Given the description of an element on the screen output the (x, y) to click on. 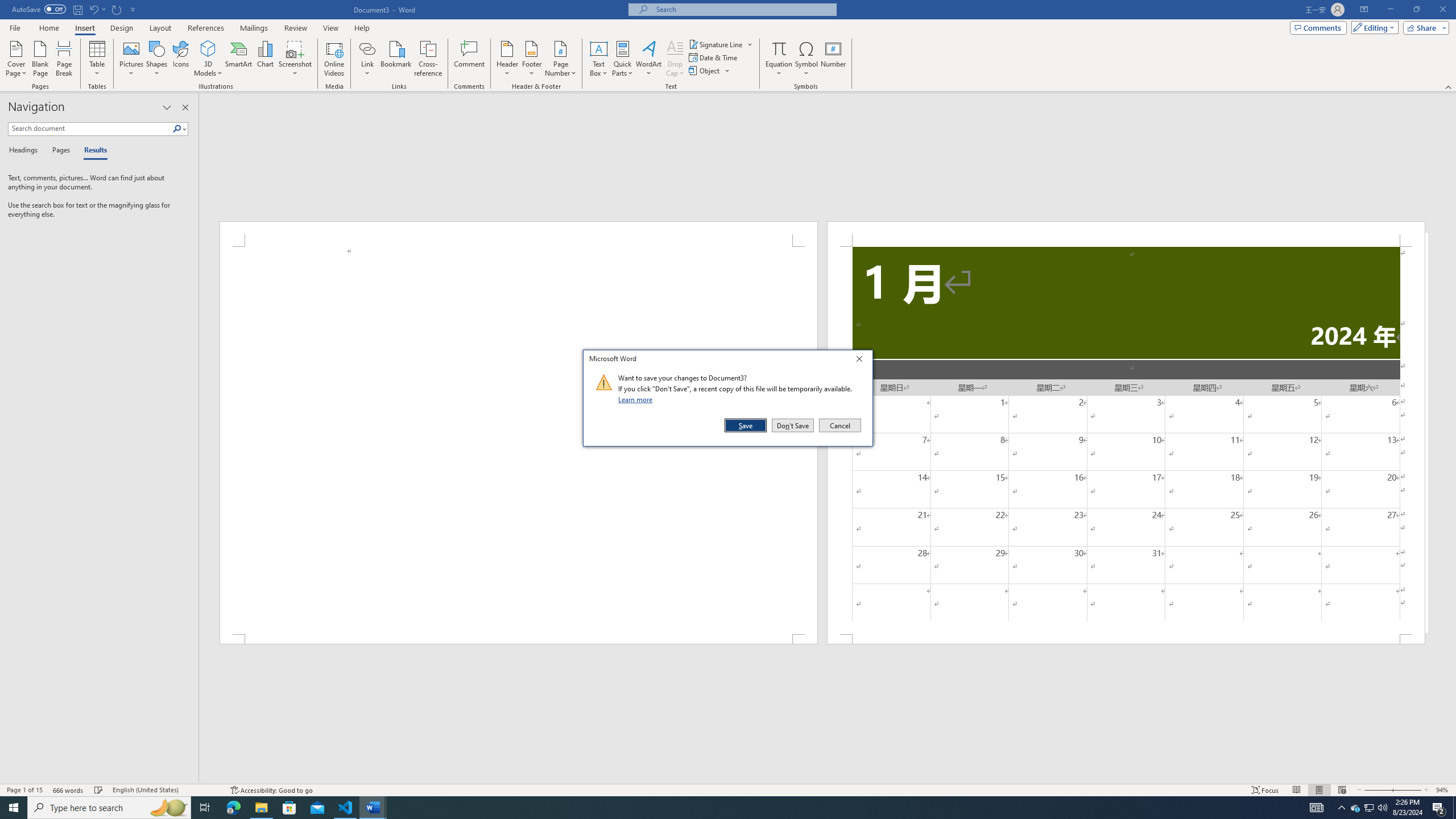
Object... (709, 69)
Start (13, 807)
Word Count 666 words (68, 790)
Class: MsoCommandBar (728, 789)
Type here to search (108, 807)
Header -Section 1- (1126, 233)
Table (97, 58)
Page Break (63, 58)
Cross-reference... (428, 58)
